Given the description of an element on the screen output the (x, y) to click on. 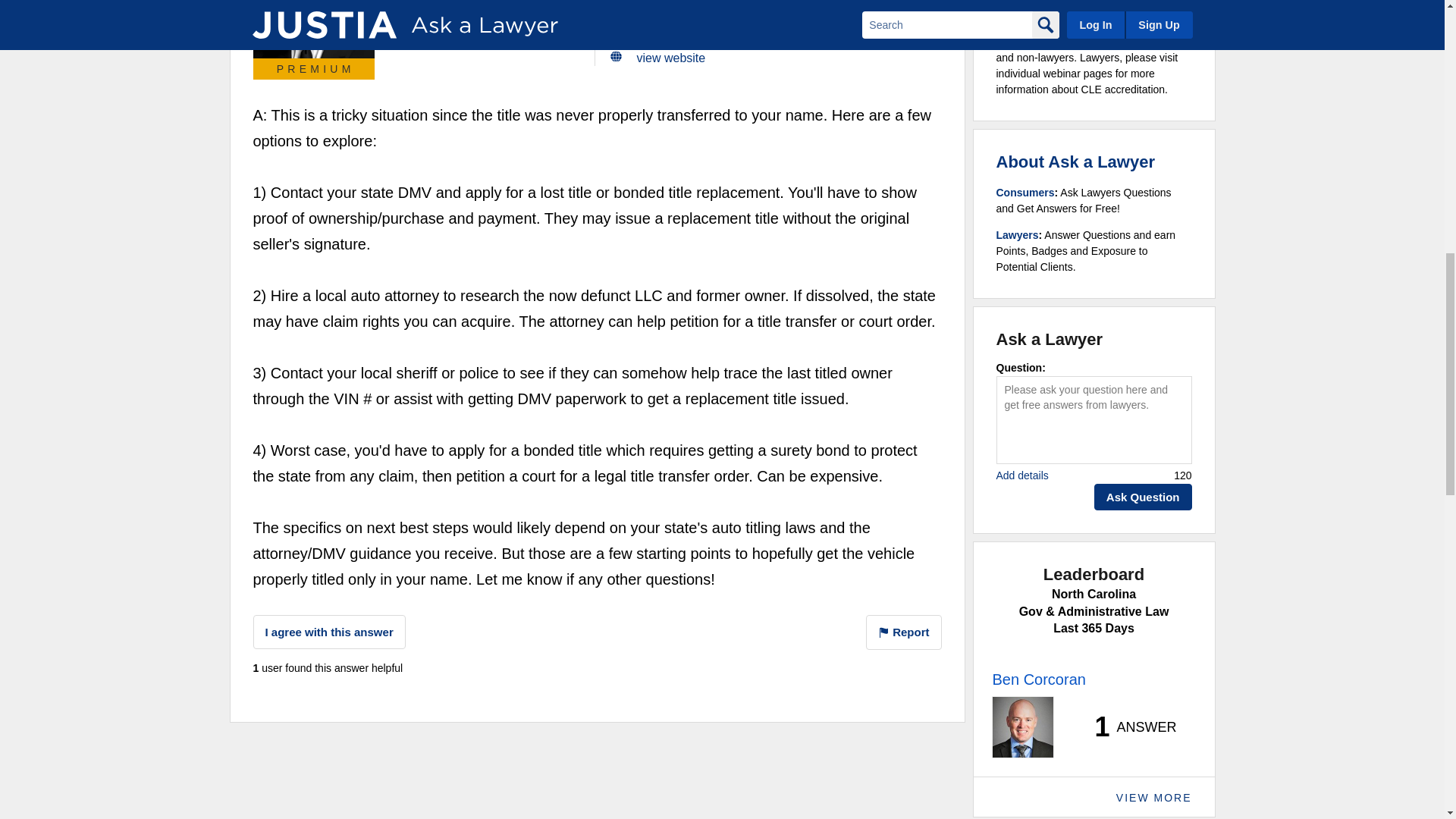
Ask a Lawyer - FAQs - Consumers (1024, 192)
Ask a Lawyer - Leaderboard - Lawyer Stats (1127, 727)
view website (671, 57)
James L. Arrasmith (313, 29)
Ask a Lawyer - Leaderboard - Lawyer Name (1037, 679)
I agree with this answer (329, 632)
Ask a Lawyer - FAQs - Lawyers (1017, 234)
Ask a Lawyer - Leaderboard - Lawyer Photo (1021, 726)
email lawyer (670, 33)
